Given the description of an element on the screen output the (x, y) to click on. 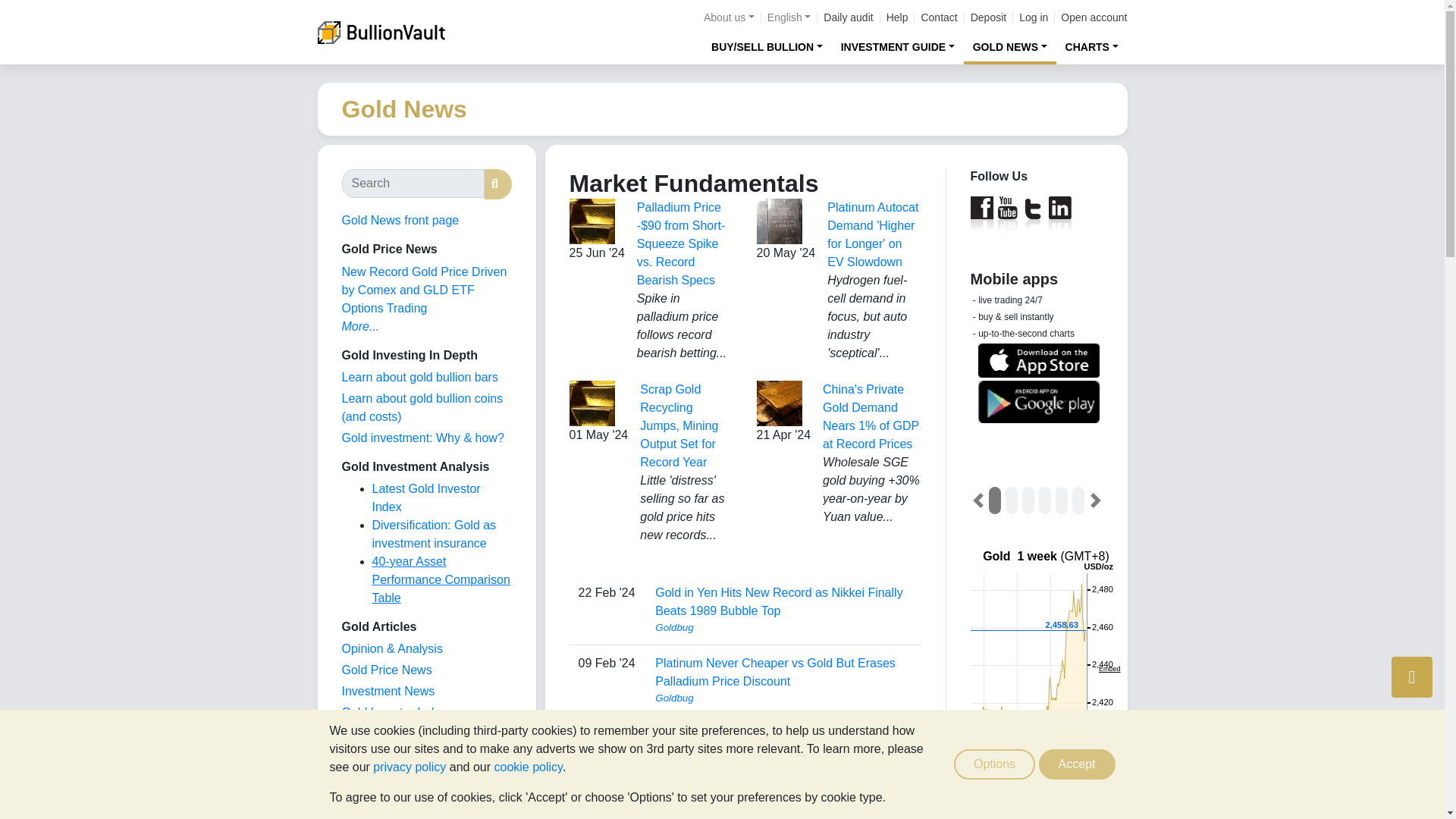
Gold Infographics (387, 733)
About us (728, 17)
Help (897, 17)
cookie policy (528, 766)
Enter the terms you wish to search for. (411, 183)
View user profile. (783, 627)
Deposit (988, 17)
Books about Gold Reviewed (372, 797)
Market Fundamentals (399, 754)
Investment News (386, 690)
English (788, 17)
Accept (1077, 764)
View user profile. (783, 768)
View user profile. (783, 698)
Gold Investor Index (393, 712)
